Given the description of an element on the screen output the (x, y) to click on. 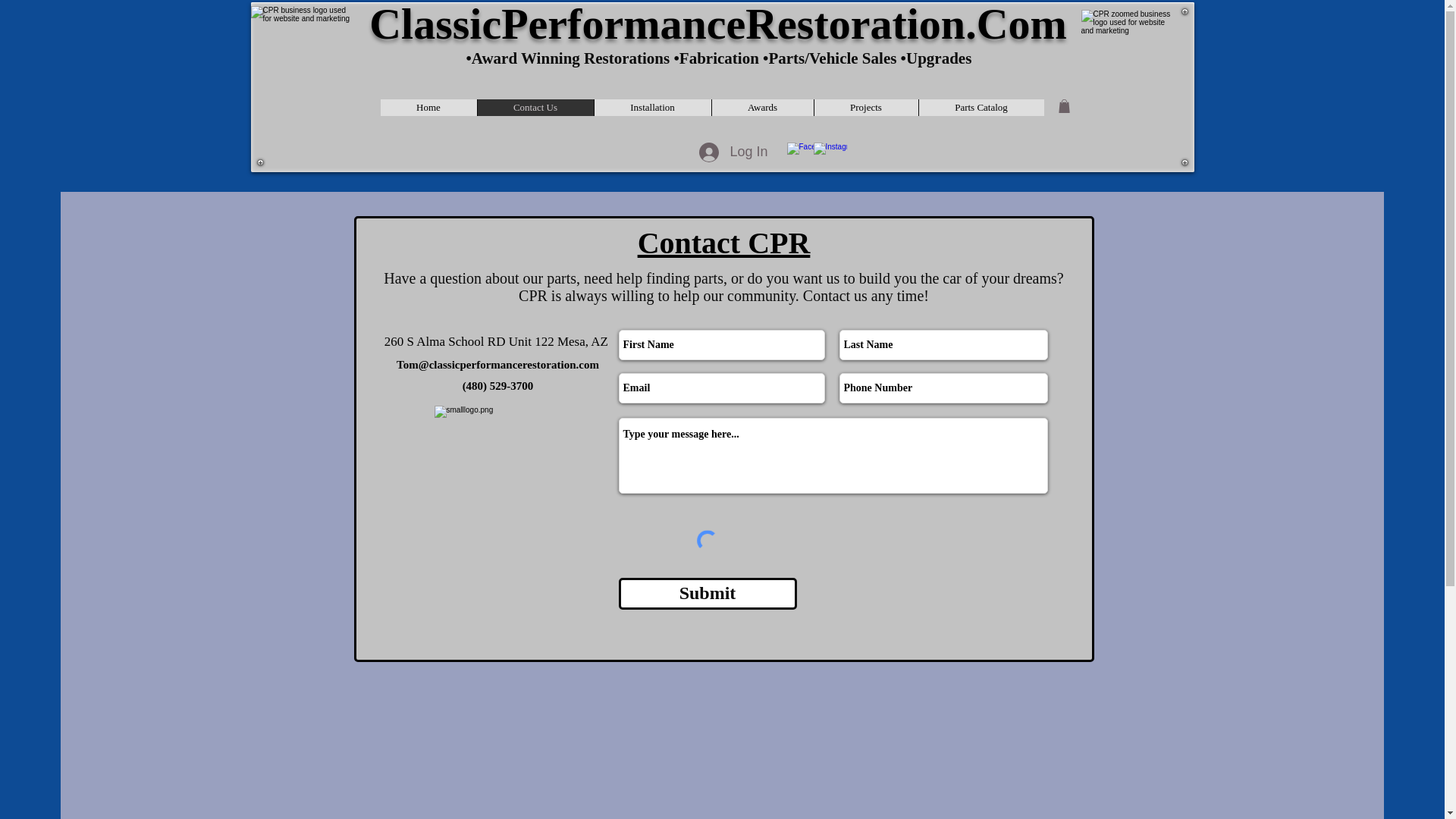
Submit (707, 593)
Log In (732, 151)
Parts Catalog (980, 107)
Home (428, 107)
Awards (762, 107)
Projects (864, 107)
Contact Us (534, 107)
Installation (651, 107)
